Given the description of an element on the screen output the (x, y) to click on. 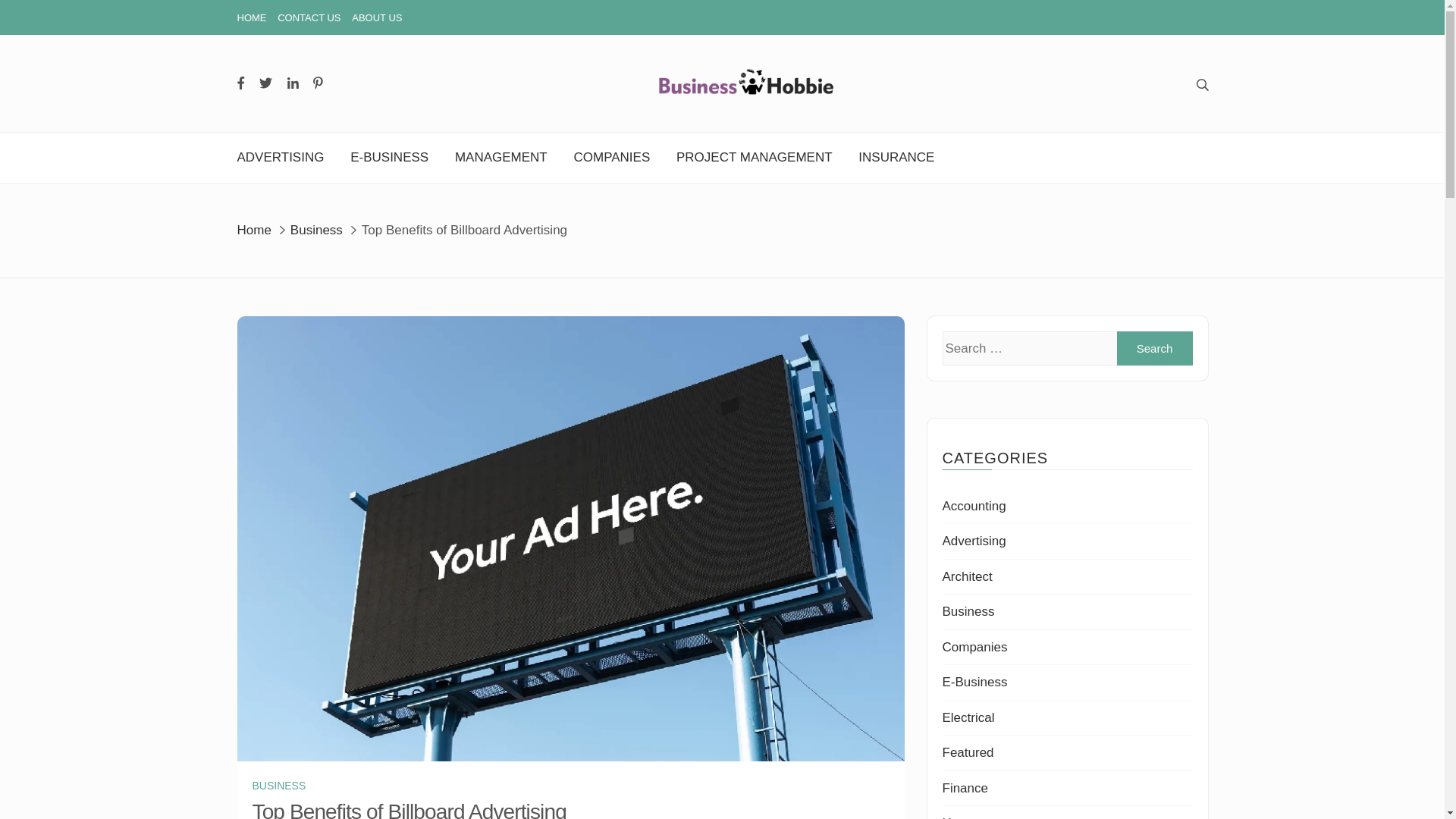
Business (968, 611)
Advertising (974, 540)
MANAGEMENT (500, 157)
Search (1154, 348)
E-BUSINESS (389, 157)
Search (1154, 348)
Companies (974, 646)
ABOUT US (376, 17)
CONTACT US (309, 17)
PROJECT MANAGEMENT (754, 157)
Business (315, 229)
Search (1154, 348)
HOME (250, 17)
Accounting (974, 505)
COMPANIES (611, 157)
